Given the description of an element on the screen output the (x, y) to click on. 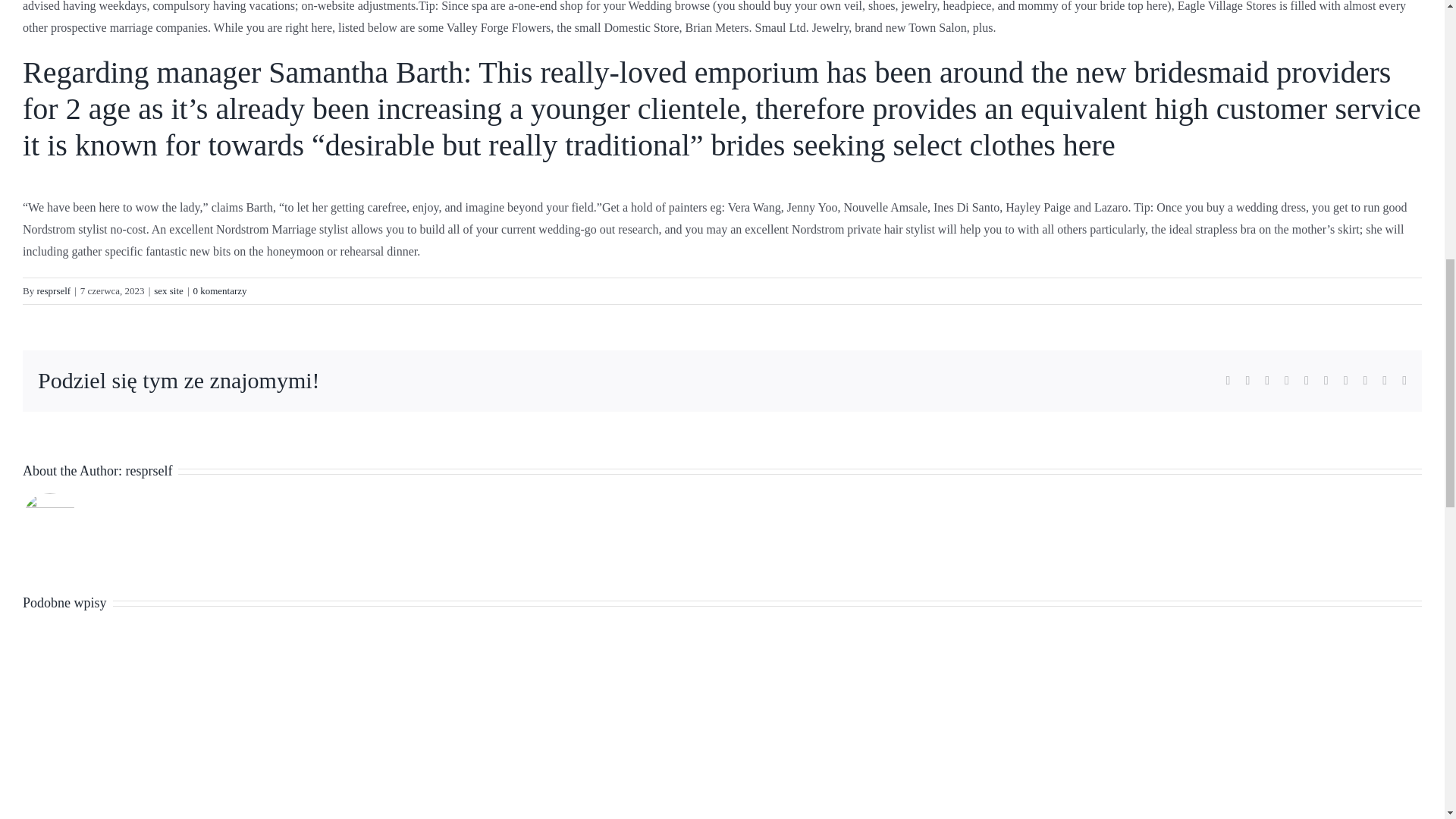
sex site (168, 290)
resprself (52, 290)
resprself (149, 470)
0 komentarzy (219, 290)
